Given the description of an element on the screen output the (x, y) to click on. 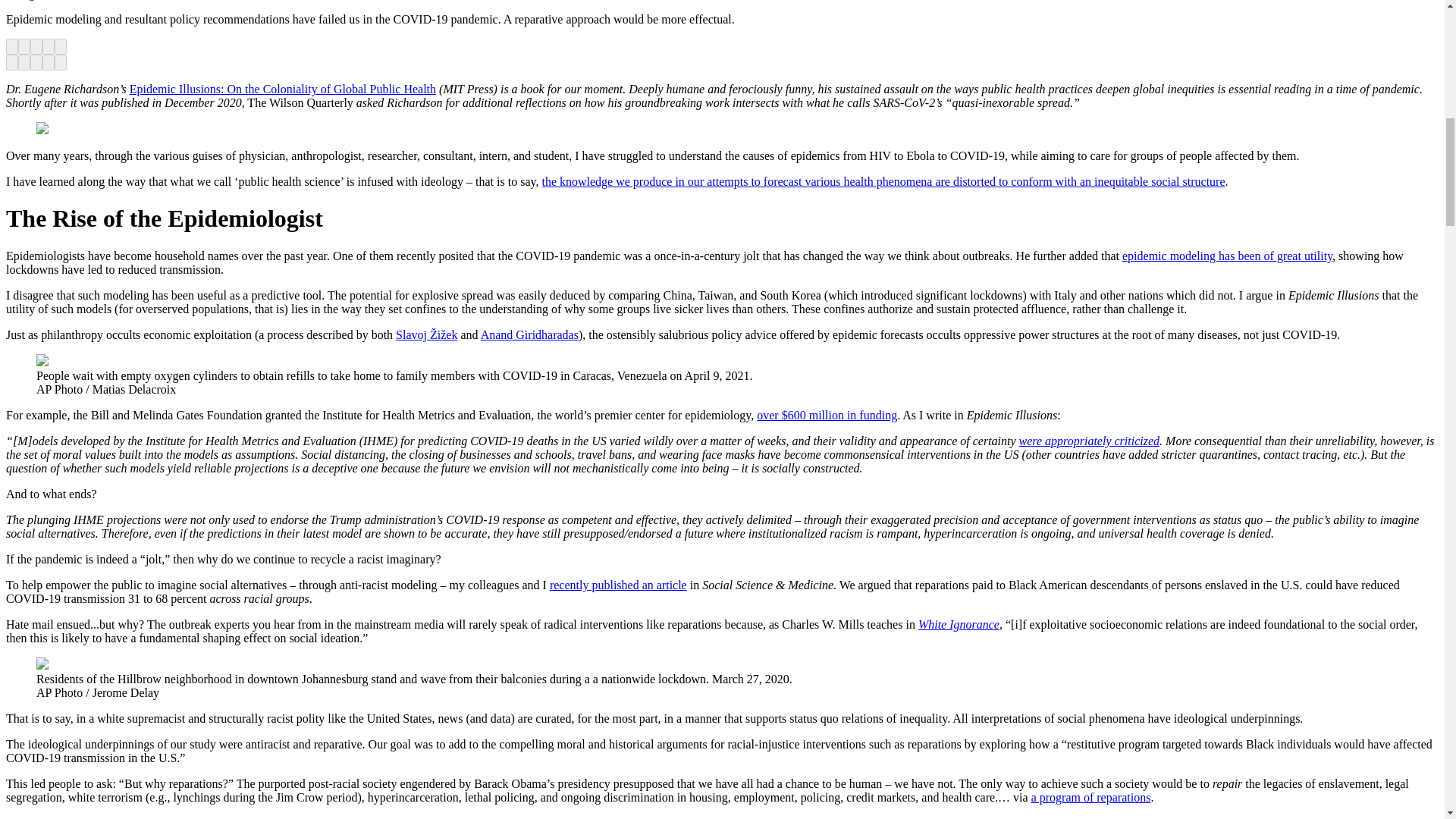
White Ignorance (958, 624)
null (529, 334)
null (618, 584)
null (282, 88)
null (882, 181)
null (826, 414)
null (1088, 440)
recently published an article (618, 584)
null (958, 624)
null (1227, 255)
